Given the description of an element on the screen output the (x, y) to click on. 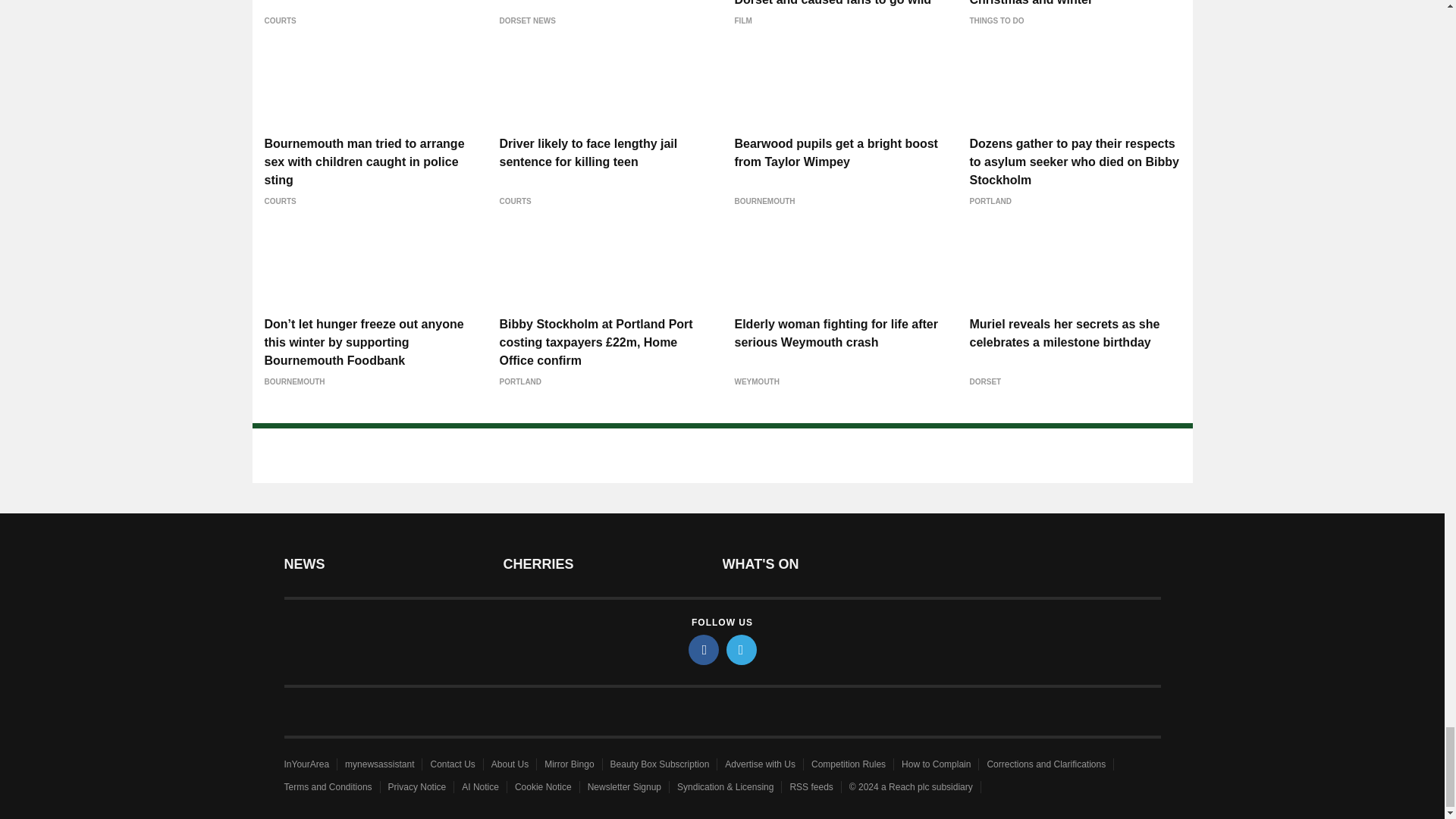
facebook (703, 649)
twitter (741, 649)
